Given the description of an element on the screen output the (x, y) to click on. 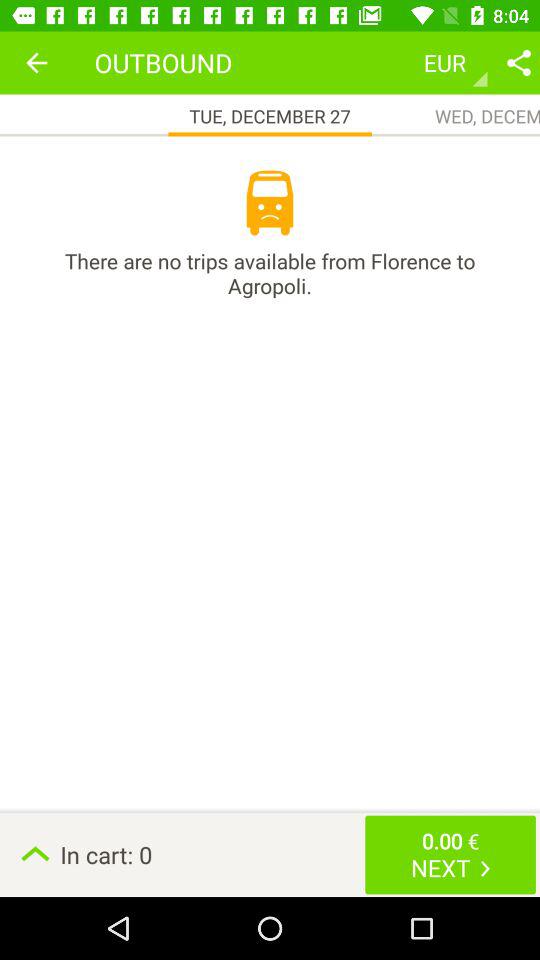
press icon above the in cart: 0 (269, 273)
